Given the description of an element on the screen output the (x, y) to click on. 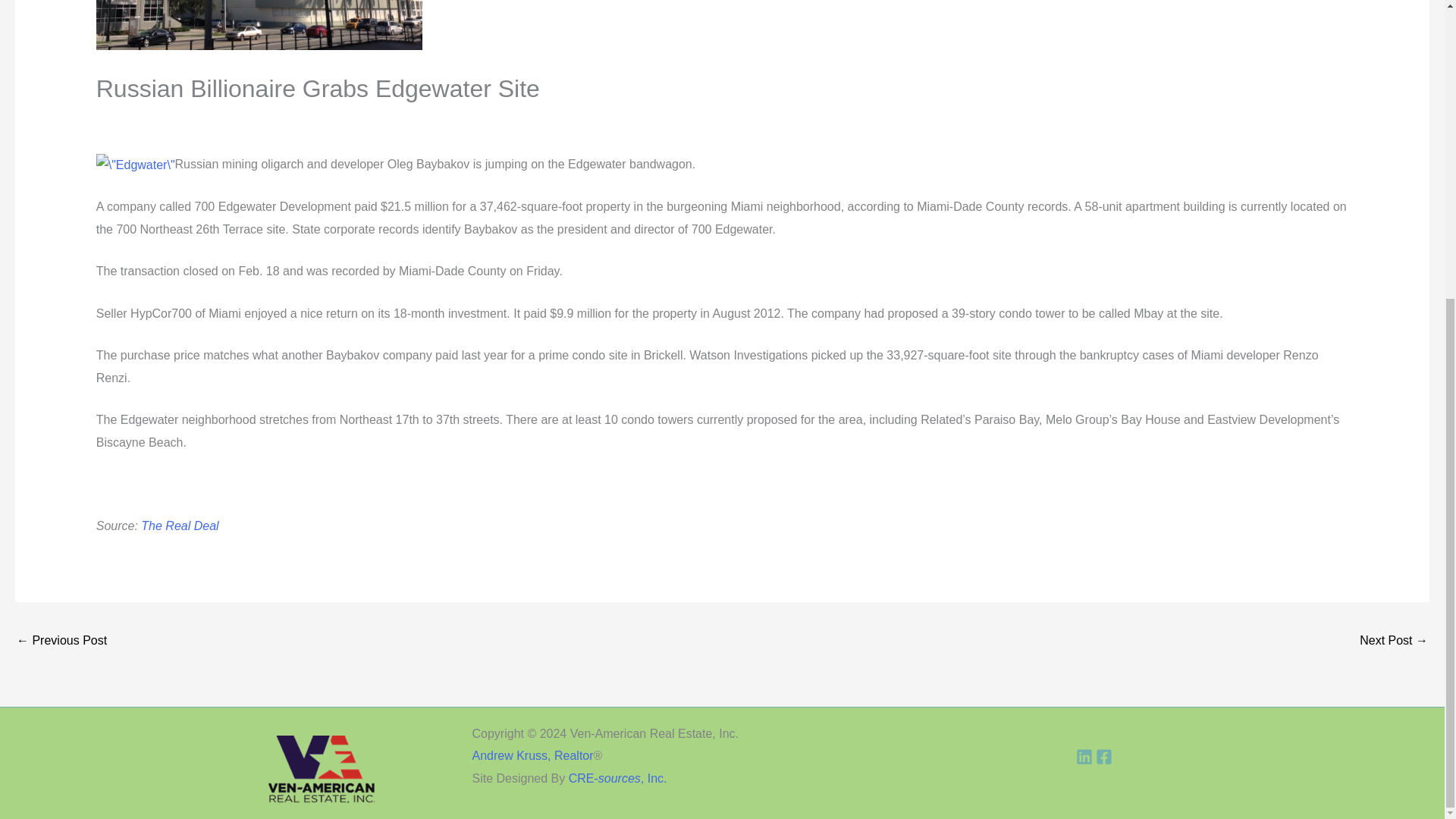
LAND (316, 119)
INDUSTRY NEWS (243, 119)
NEW RESIDENTIAL (477, 119)
Foreign Investors, All Cash Buyers Slowing (1393, 642)
COMMERCIAL (143, 119)
The Real Deal (179, 525)
MULTIFAMILY (376, 119)
View all posts by ADMIN (578, 119)
Miami Real Estate Market Still Going Strong (61, 642)
CRE-sources, Inc. (617, 778)
Andrew Kruss, Realtor (531, 755)
ADMIN (578, 119)
